Given the description of an element on the screen output the (x, y) to click on. 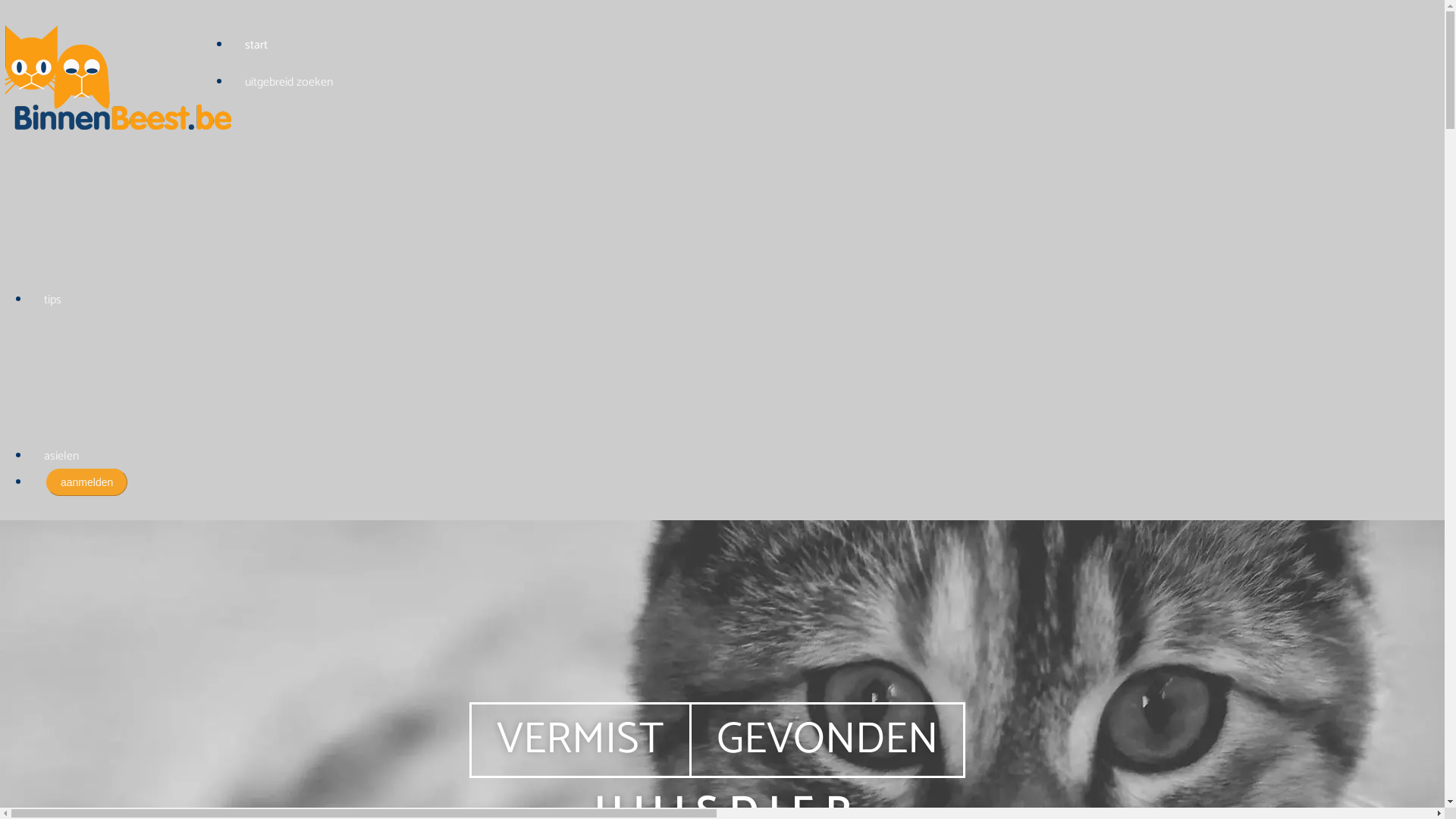
tips Element type: text (52, 299)
aanmelden Element type: text (86, 482)
GEVONDEN Element type: text (827, 739)
aanmelden Element type: text (86, 481)
VERMIST Element type: text (579, 739)
uitgebreid zoeken Element type: text (288, 82)
asielen Element type: text (61, 455)
start Element type: text (256, 44)
